Given the description of an element on the screen output the (x, y) to click on. 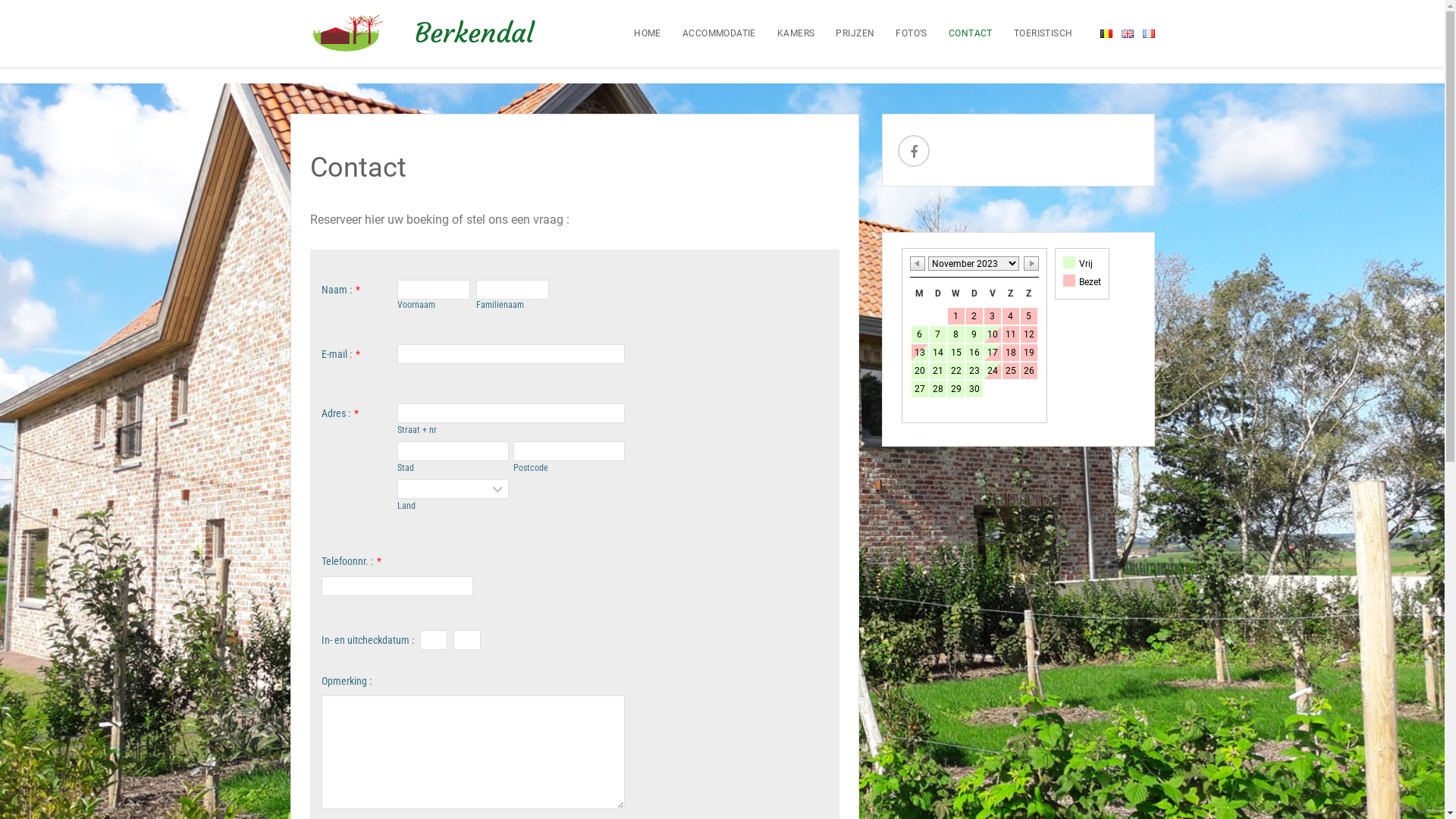
Berkendal Element type: text (473, 32)
HOME Element type: text (638, 32)
ACCOMMODATIE Element type: text (710, 32)
CONTACT Element type: text (961, 32)
PRIJZEN Element type: text (845, 32)
TOERISTISCH Element type: text (1034, 32)
KAMERS Element type: text (787, 32)
